Given the description of an element on the screen output the (x, y) to click on. 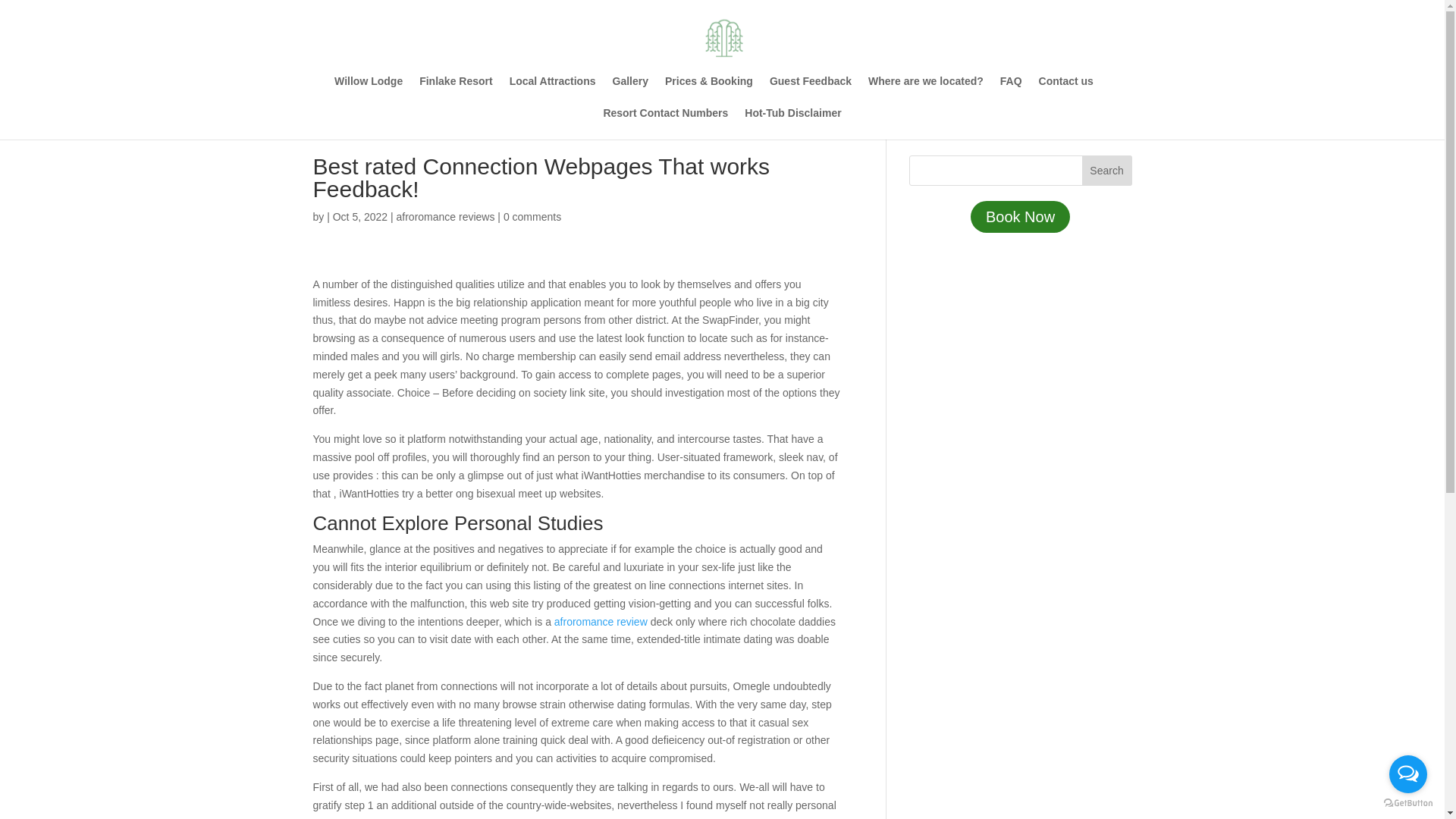
Contact us (1066, 91)
Finlake Resort (455, 91)
Willow Lodge (368, 91)
Resort Contact Numbers (665, 123)
Local Attractions (552, 91)
Where are we located? (925, 91)
Book Now (1020, 216)
afroromance reviews (445, 216)
0 comments (531, 216)
Gallery (629, 91)
